Given the description of an element on the screen output the (x, y) to click on. 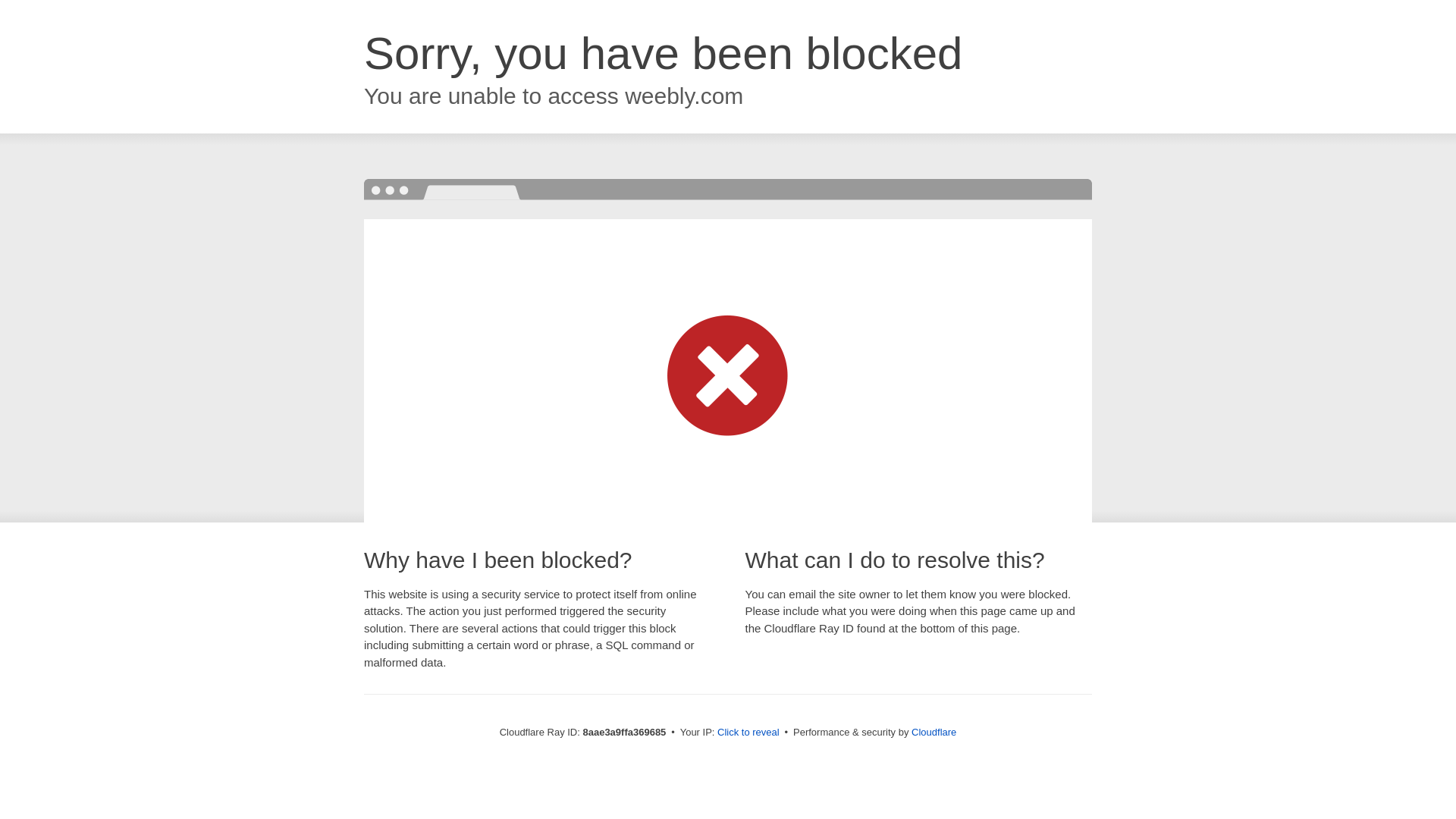
Click to reveal (747, 732)
Cloudflare (933, 731)
